Given the description of an element on the screen output the (x, y) to click on. 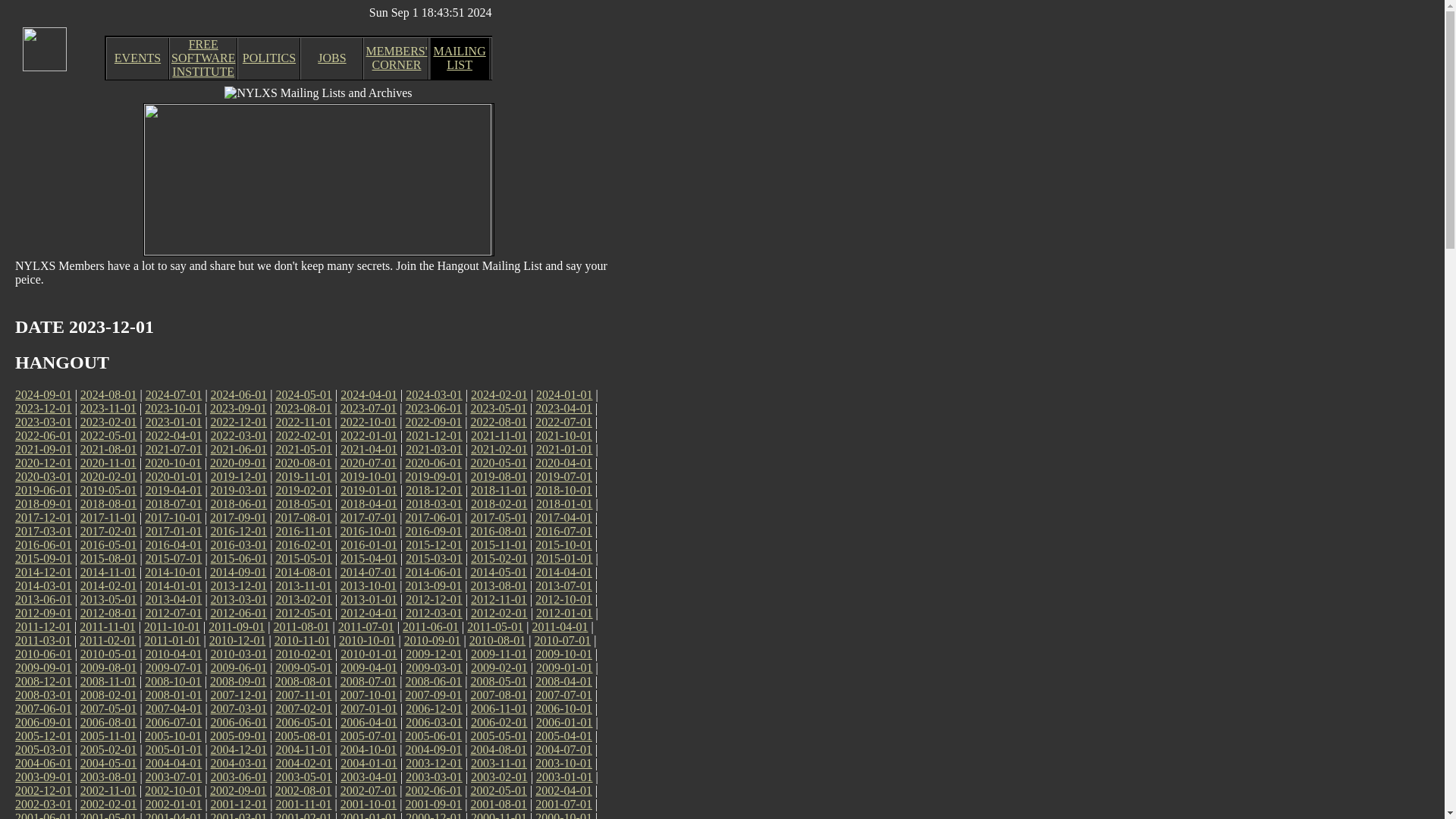
2023-01-01 (173, 421)
2022-01-01 (368, 435)
2022-05-01 (108, 435)
2022-07-01 (563, 421)
2023-06-01 (434, 408)
2023-12-01 (42, 408)
2024-06-01 (239, 394)
2022-06-01 (42, 435)
2022-10-01 (368, 421)
2023-04-01 (563, 408)
